Given the description of an element on the screen output the (x, y) to click on. 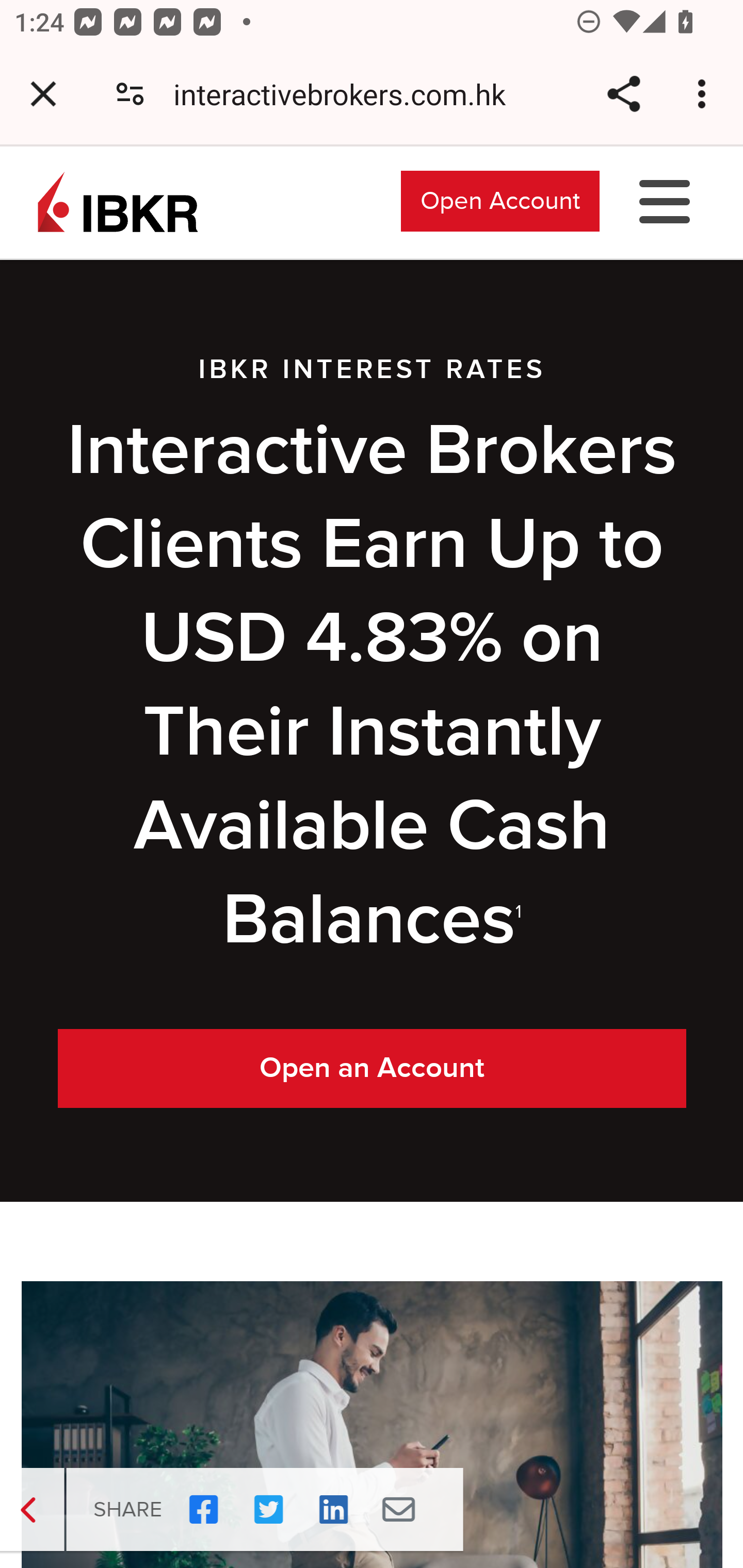
Close tab (43, 93)
Share (623, 93)
Customize and control Google Chrome (705, 93)
Connection is secure (129, 93)
interactivebrokers.com.hk (346, 93)
Interactive Brokers Home (117, 200)
Open Account (500, 200)
Toggle Navigation (665, 200)
Open an Account (372, 1068)
Share on Facebook  (189, 1509)
Share on Twitter  (255, 1509)
Share on Linkedin  (319, 1509)
Share by Email  (385, 1509)
